Given the description of an element on the screen output the (x, y) to click on. 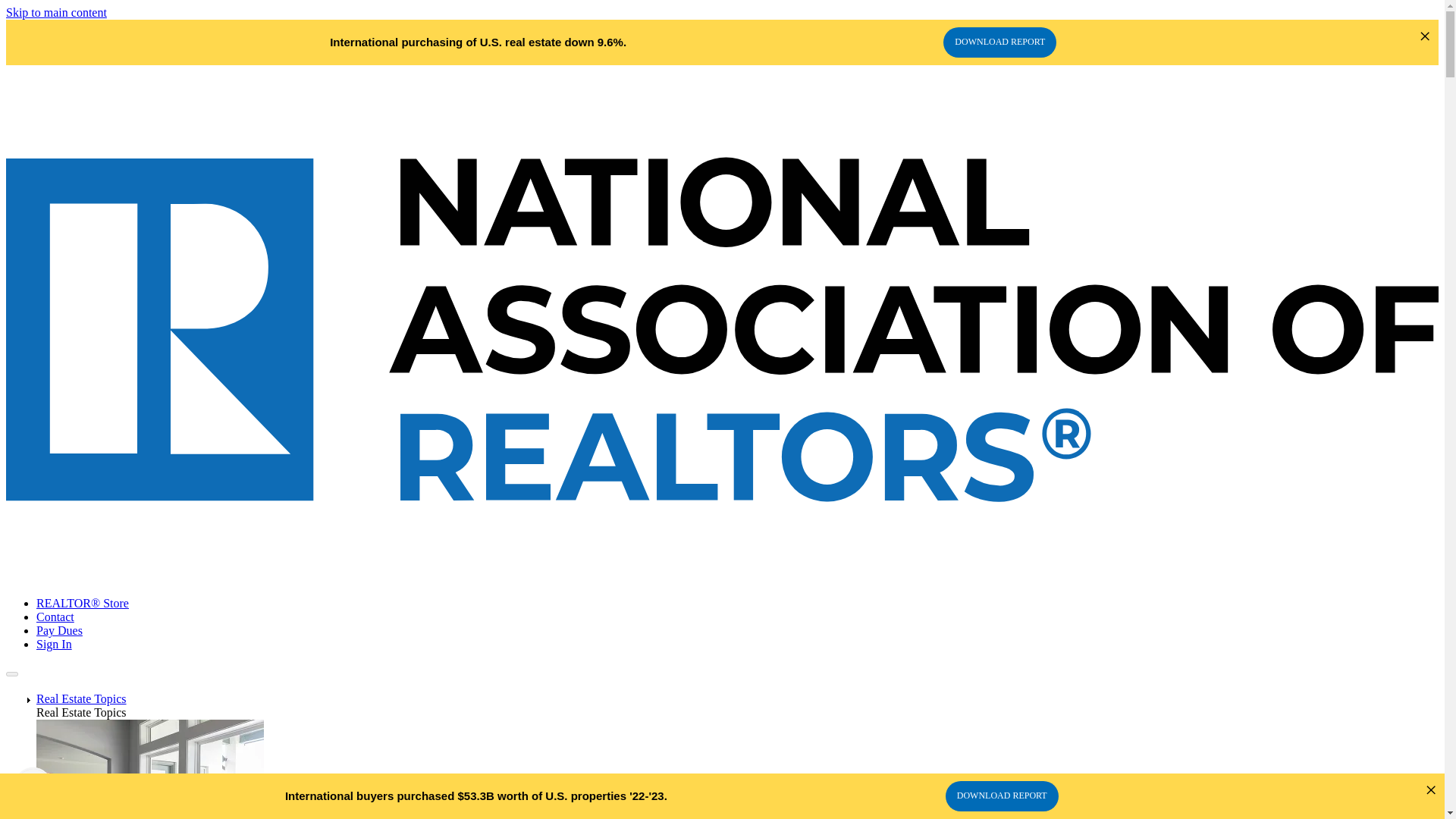
Enable accessibility (32, 785)
Real Estate Topics (81, 698)
Skip to main content (55, 11)
DOWNLOAD REPORT (1000, 42)
